Given the description of an element on the screen output the (x, y) to click on. 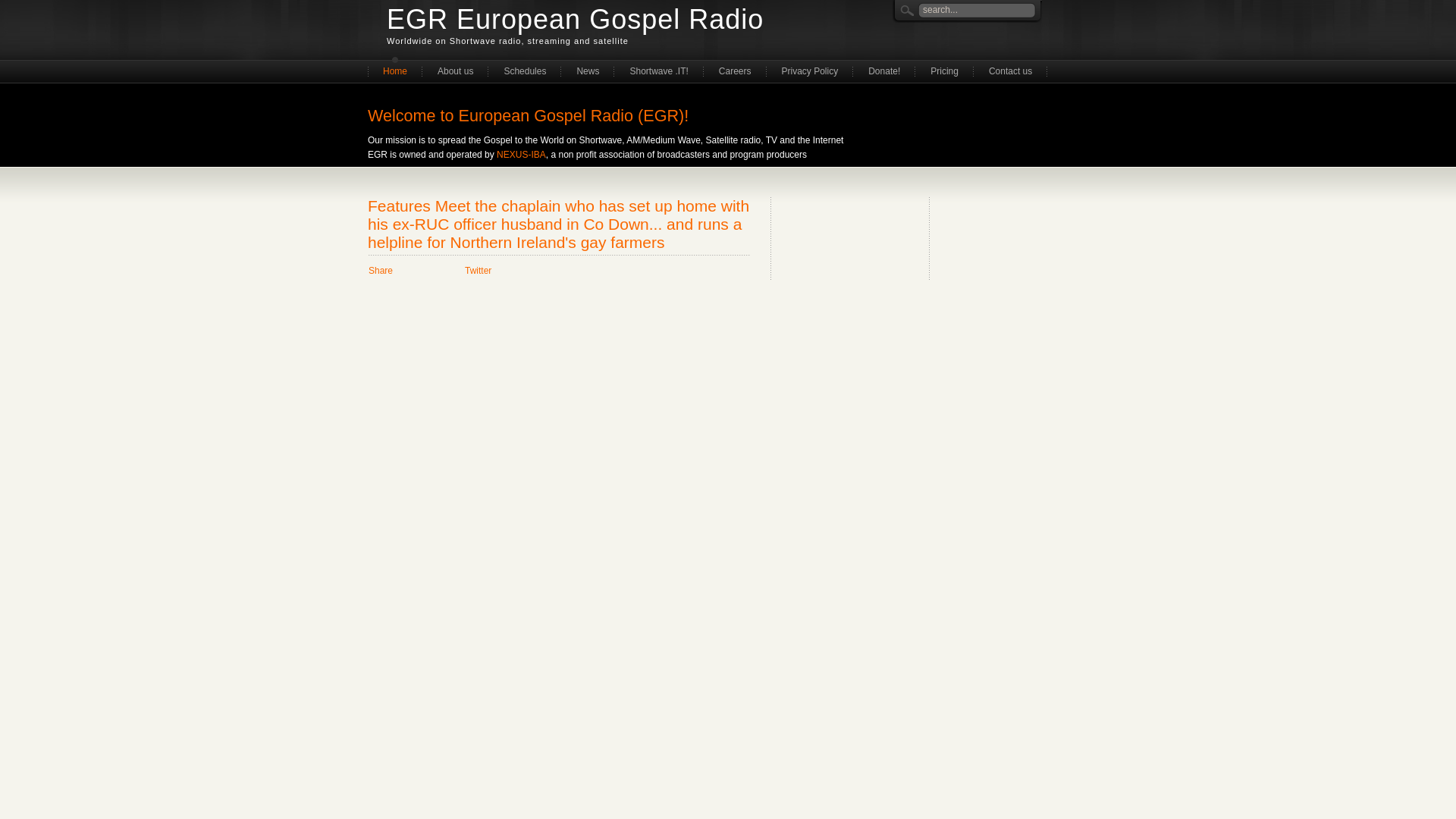
News (587, 69)
Privacy Policy (810, 69)
Twitter (478, 270)
EGR European Gospel Radio (574, 20)
Schedules (523, 69)
Home (395, 69)
Schedules (523, 69)
Donate! (884, 69)
Pricing (944, 69)
Careers (735, 69)
Shortwave .IT! (658, 69)
search... (964, 7)
NEXUS-IBA (521, 154)
News (587, 69)
